Given the description of an element on the screen output the (x, y) to click on. 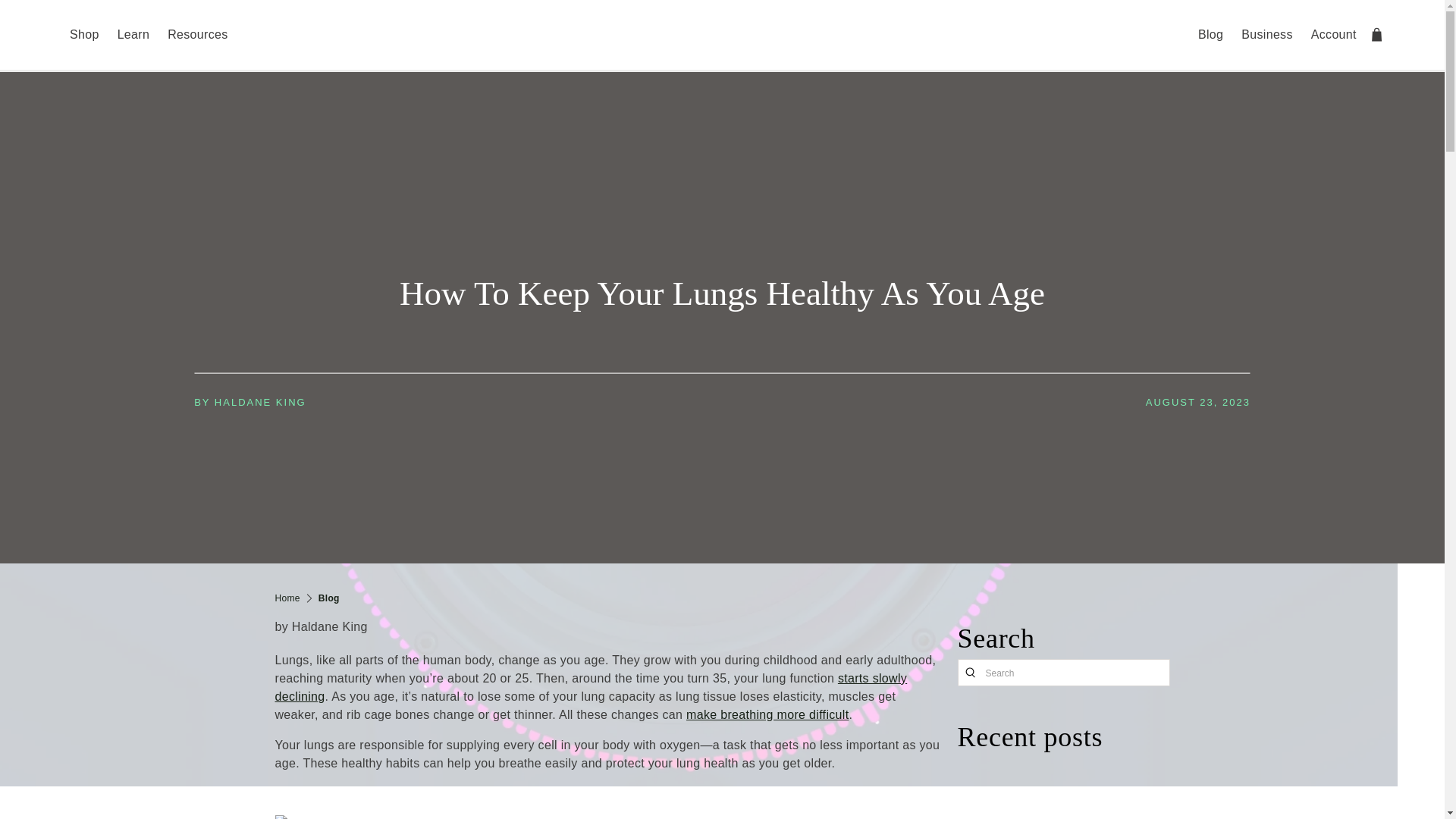
search blog (969, 672)
Blog (1210, 34)
Account (1333, 34)
Business (1266, 34)
Resources (196, 34)
Learn (132, 34)
Blog (328, 597)
What Is Causing You to Have Shortness of Breath at Night? (766, 714)
Molekule (287, 597)
Shopping Cart (1377, 34)
